Given the description of an element on the screen output the (x, y) to click on. 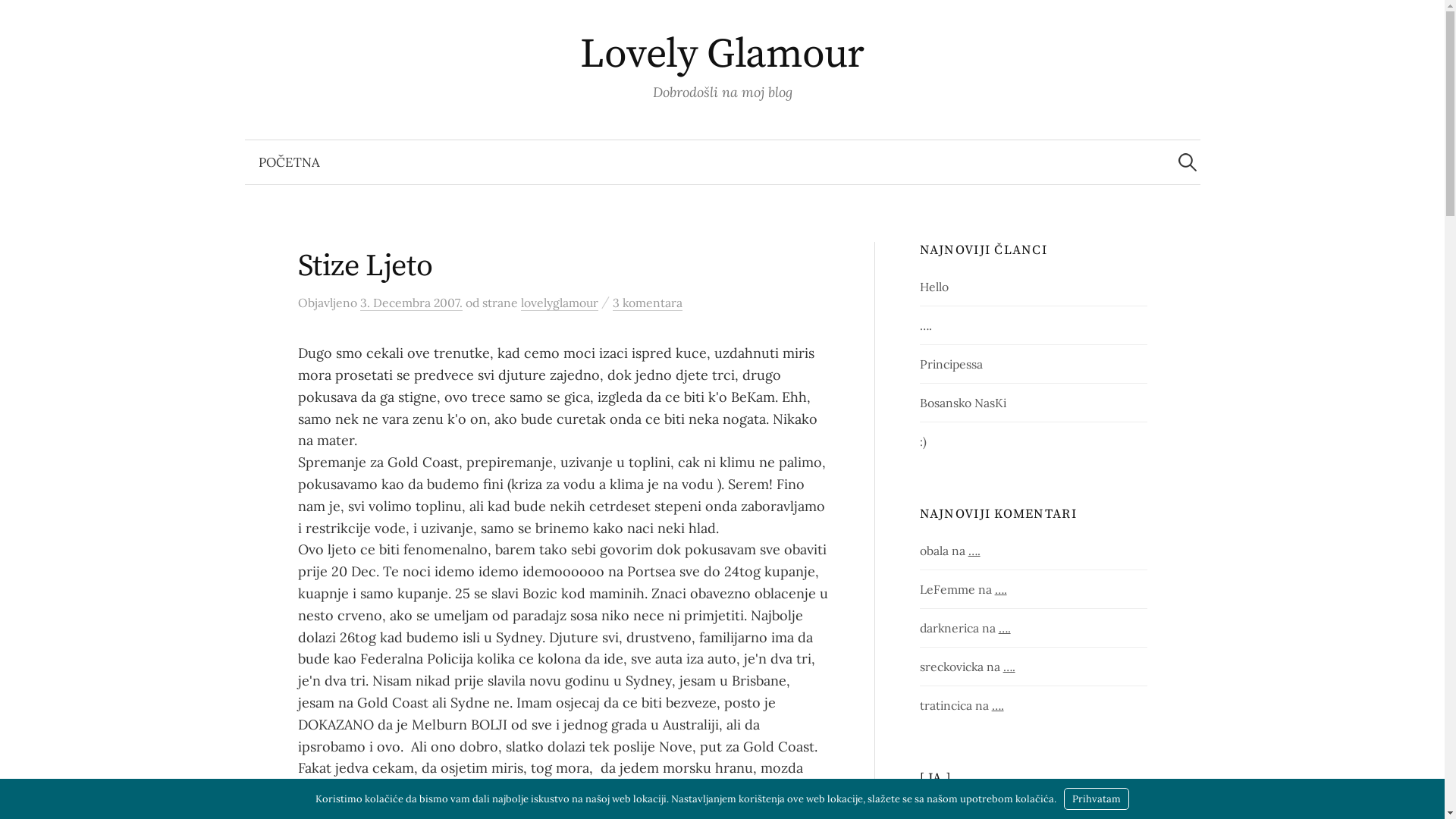
3. Decembra 2007. Element type: text (410, 302)
Prihvatam Element type: text (1096, 798)
Pretraga Element type: text (18, 18)
Principessa Element type: text (950, 363)
3 komentara
za Stize Ljeto Element type: text (647, 302)
Hello Element type: text (933, 286)
Bosansko NasKi Element type: text (962, 402)
Lovely Glamour Element type: text (721, 54)
:) Element type: text (922, 440)
lovelyglamour Element type: text (558, 302)
